Given the description of an element on the screen output the (x, y) to click on. 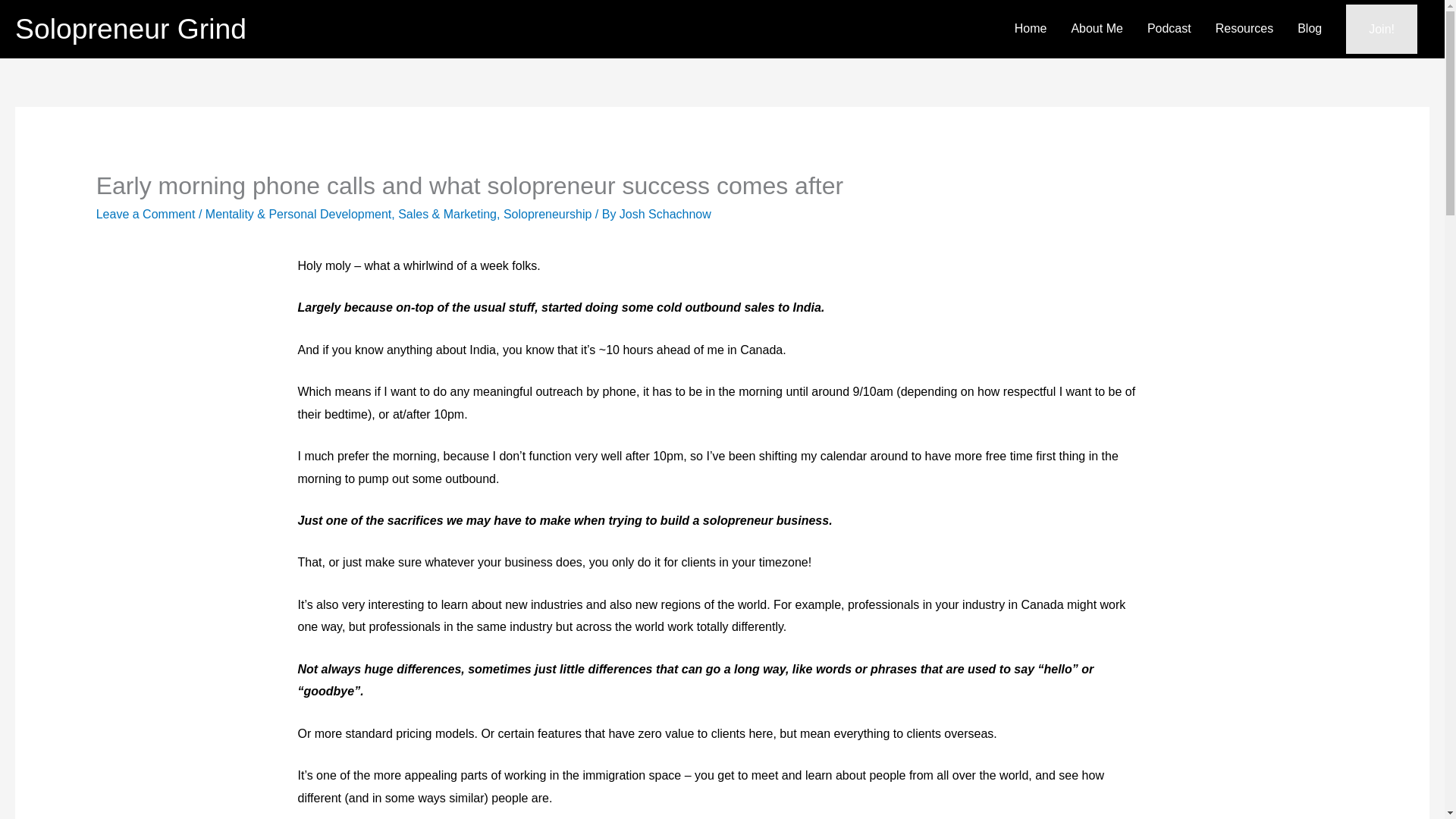
Leave a Comment (145, 214)
Solopreneurship (547, 214)
Podcast (1169, 29)
Home (1031, 29)
Josh Schachnow (665, 214)
Blog (1309, 29)
View all posts by Josh Schachnow (665, 214)
Join! (1380, 29)
Resources (1244, 29)
About Me (1096, 29)
Solopreneur Grind (130, 29)
